Given the description of an element on the screen output the (x, y) to click on. 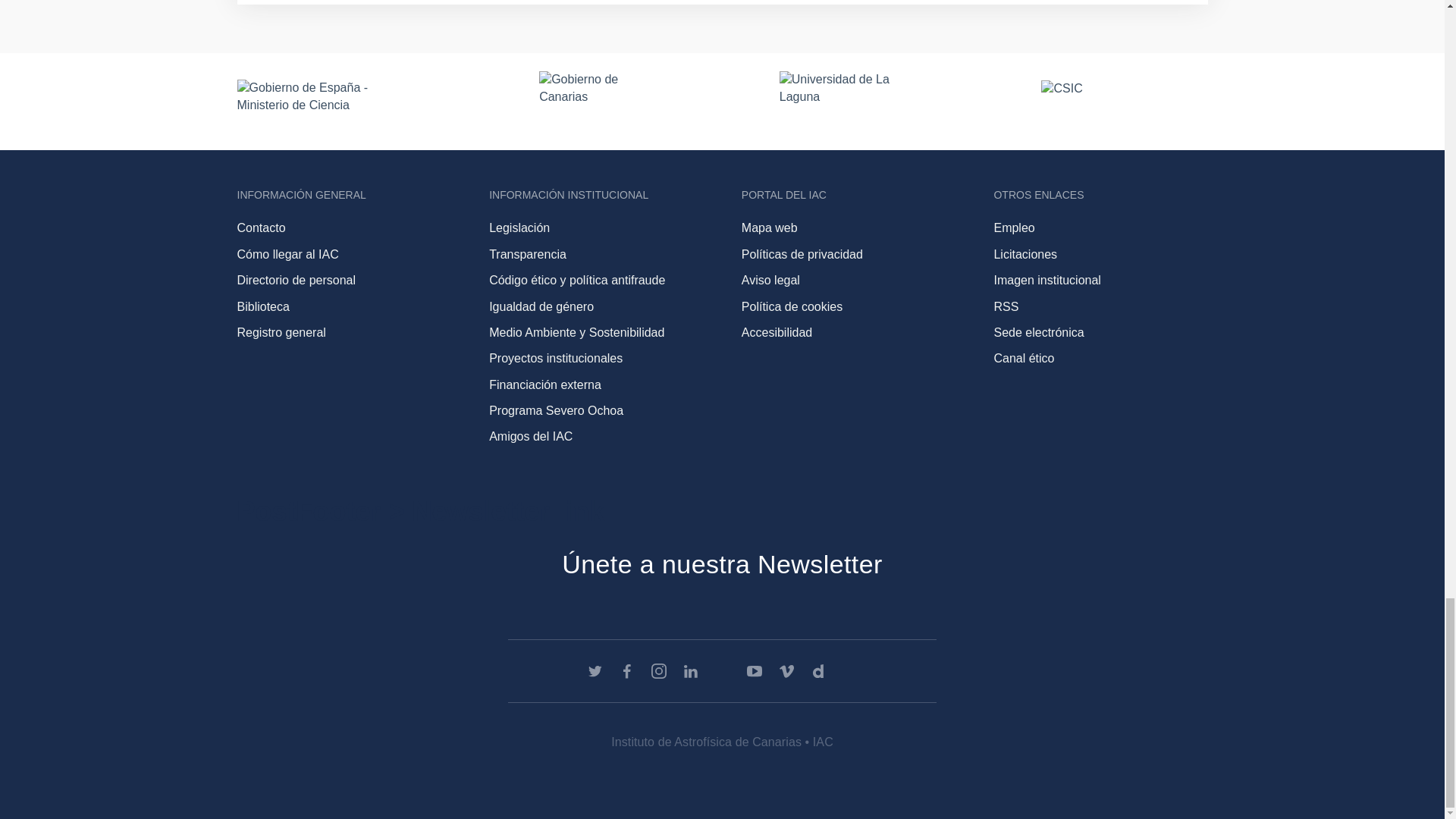
Gobierno de Canarias (591, 101)
Universidad de La Laguna (842, 101)
CSIC (1124, 101)
